Given the description of an element on the screen output the (x, y) to click on. 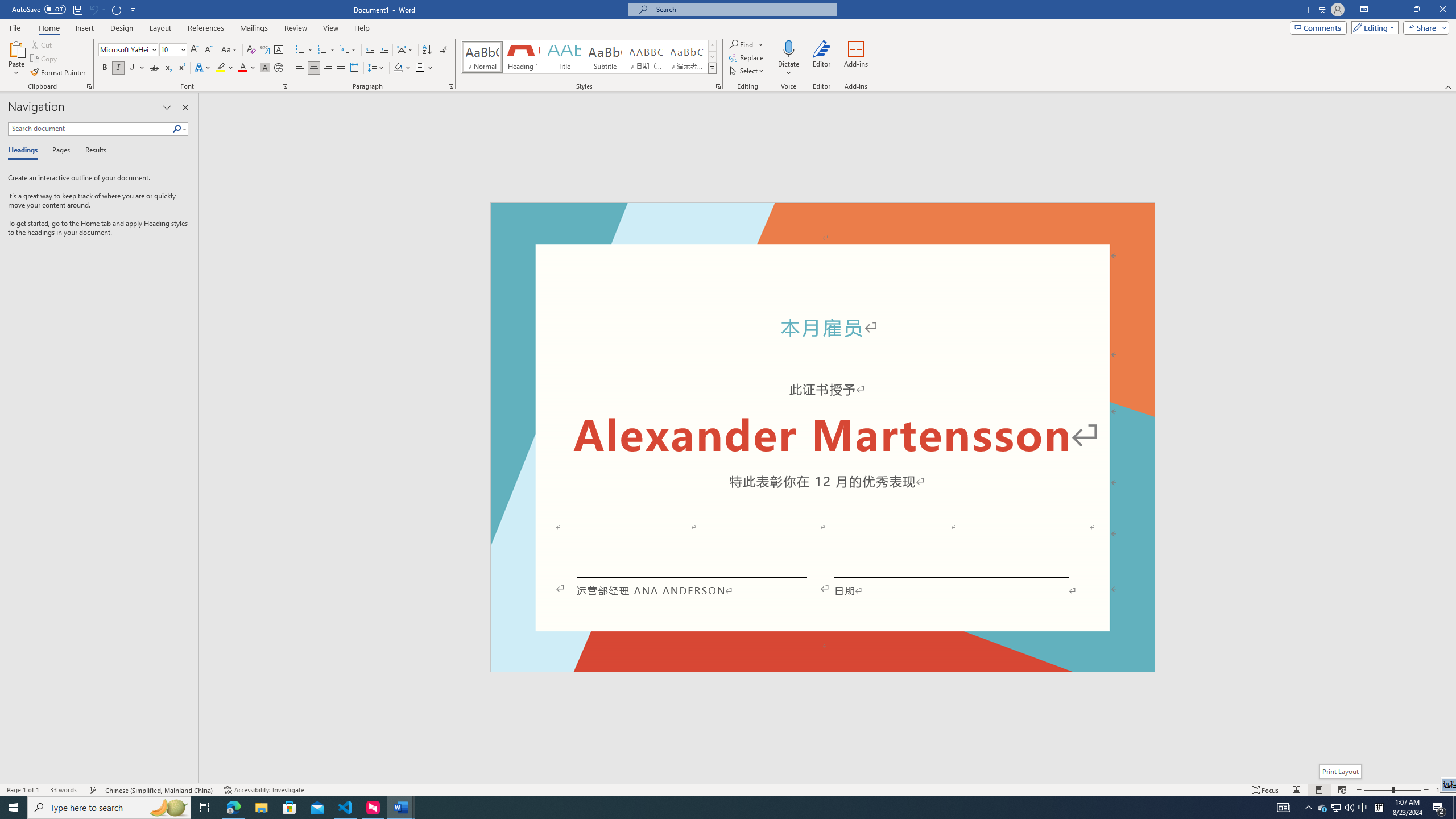
Heading 1 (522, 56)
Title (564, 56)
